Given the description of an element on the screen output the (x, y) to click on. 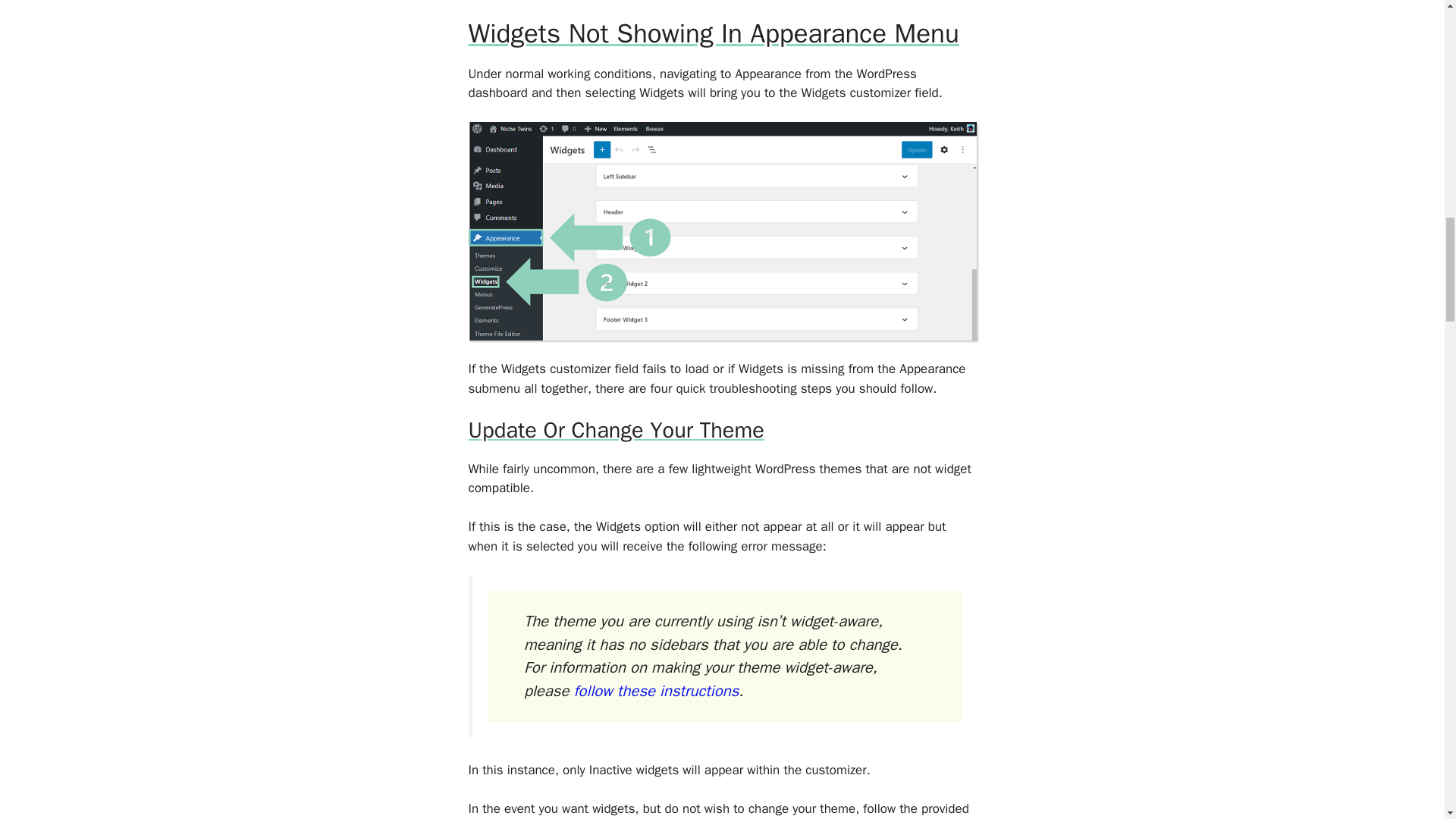
follow these instructions (655, 690)
